Given the description of an element on the screen output the (x, y) to click on. 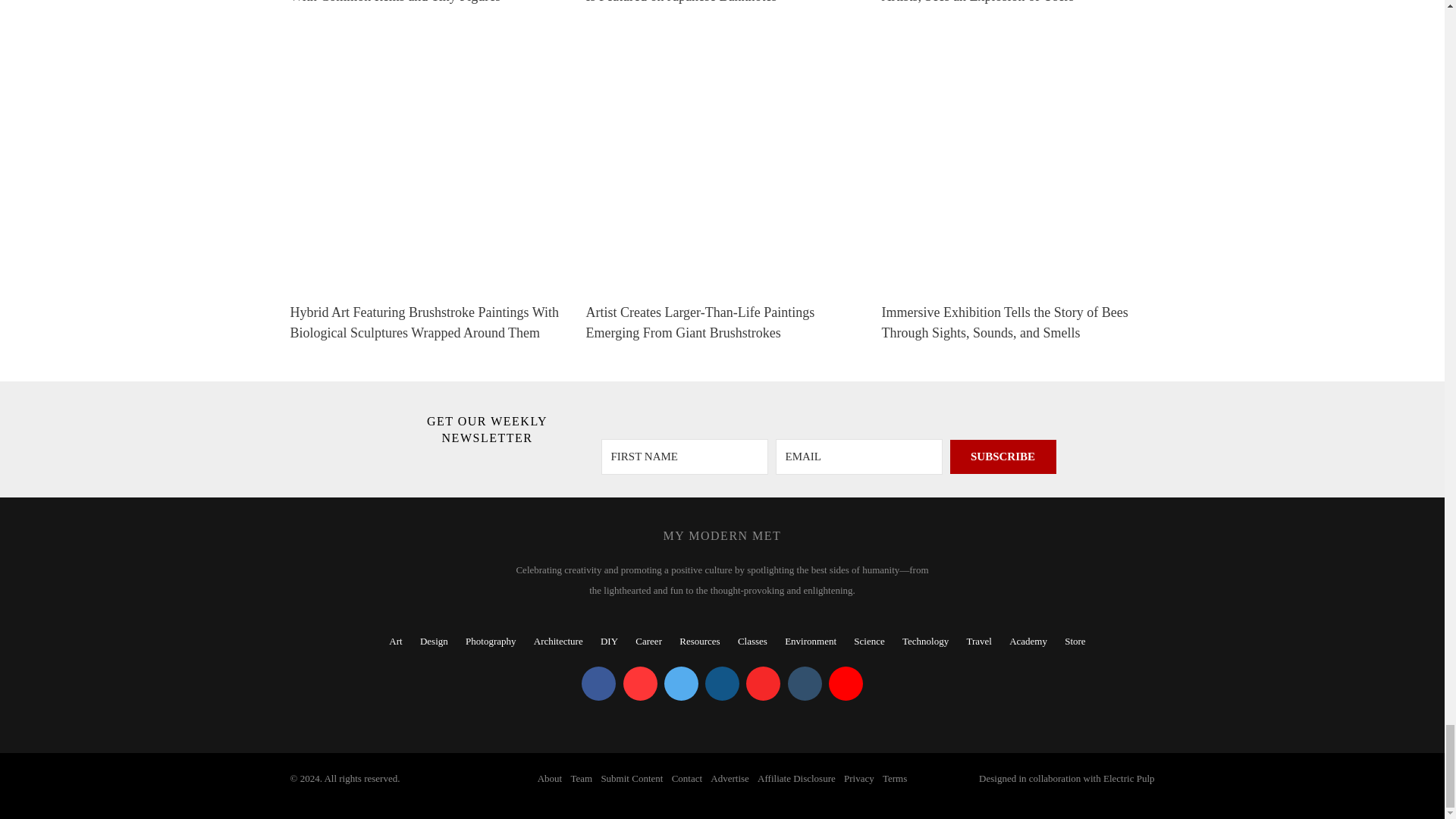
My Modern Met on Pinterest (640, 683)
My Modern Met on YouTube (845, 683)
My Modern Met on Tumblr (804, 683)
My Modern Met on Facebook (597, 683)
My Modern Met on Instagram (721, 683)
My Modern Met on Twitter (680, 683)
